Given the description of an element on the screen output the (x, y) to click on. 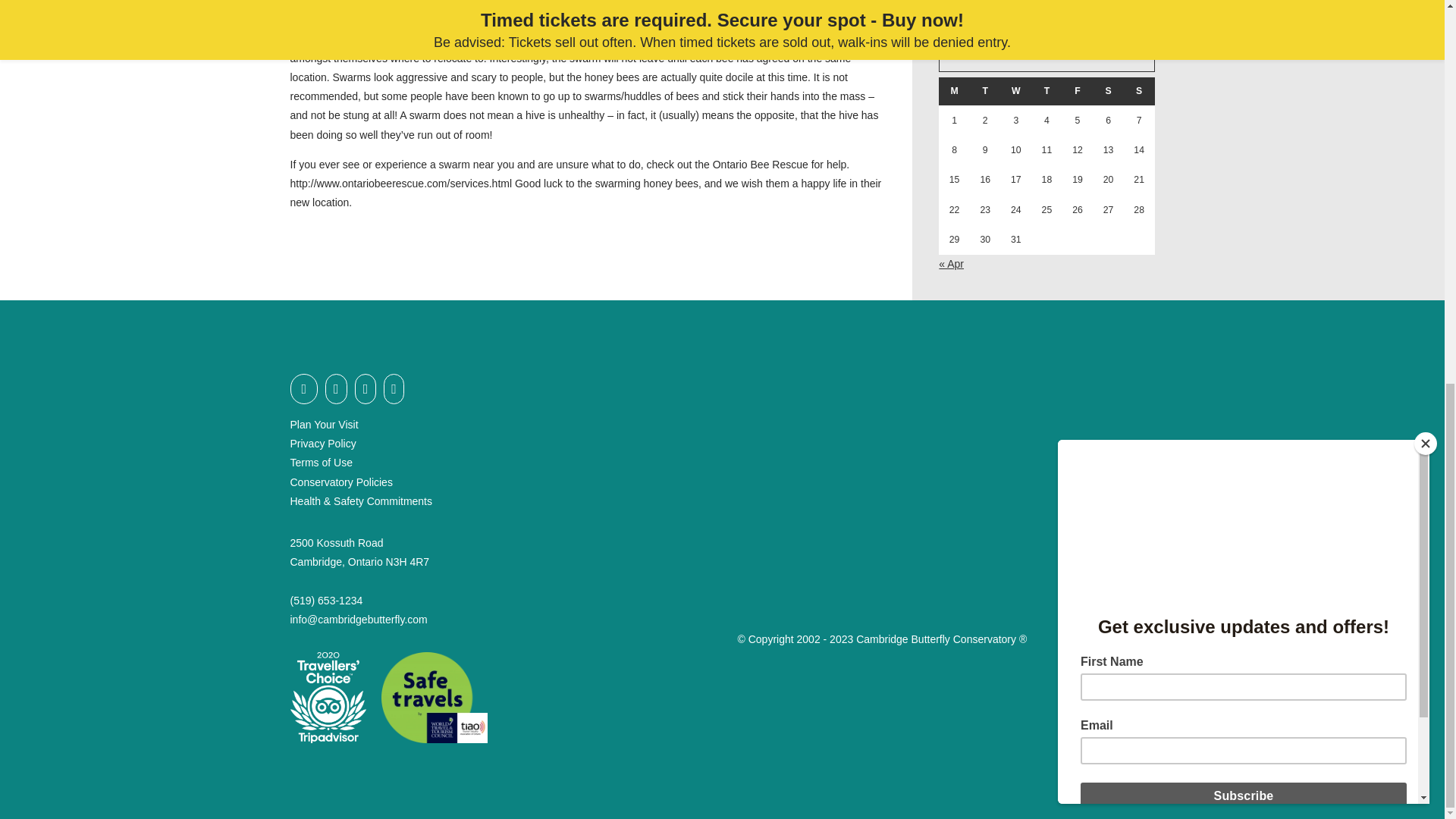
Saturday (1108, 91)
Tuesday (985, 91)
Sunday (1139, 91)
Thursday (1046, 91)
Friday (1077, 91)
Wednesday (1016, 91)
Monday (954, 91)
